Given the description of an element on the screen output the (x, y) to click on. 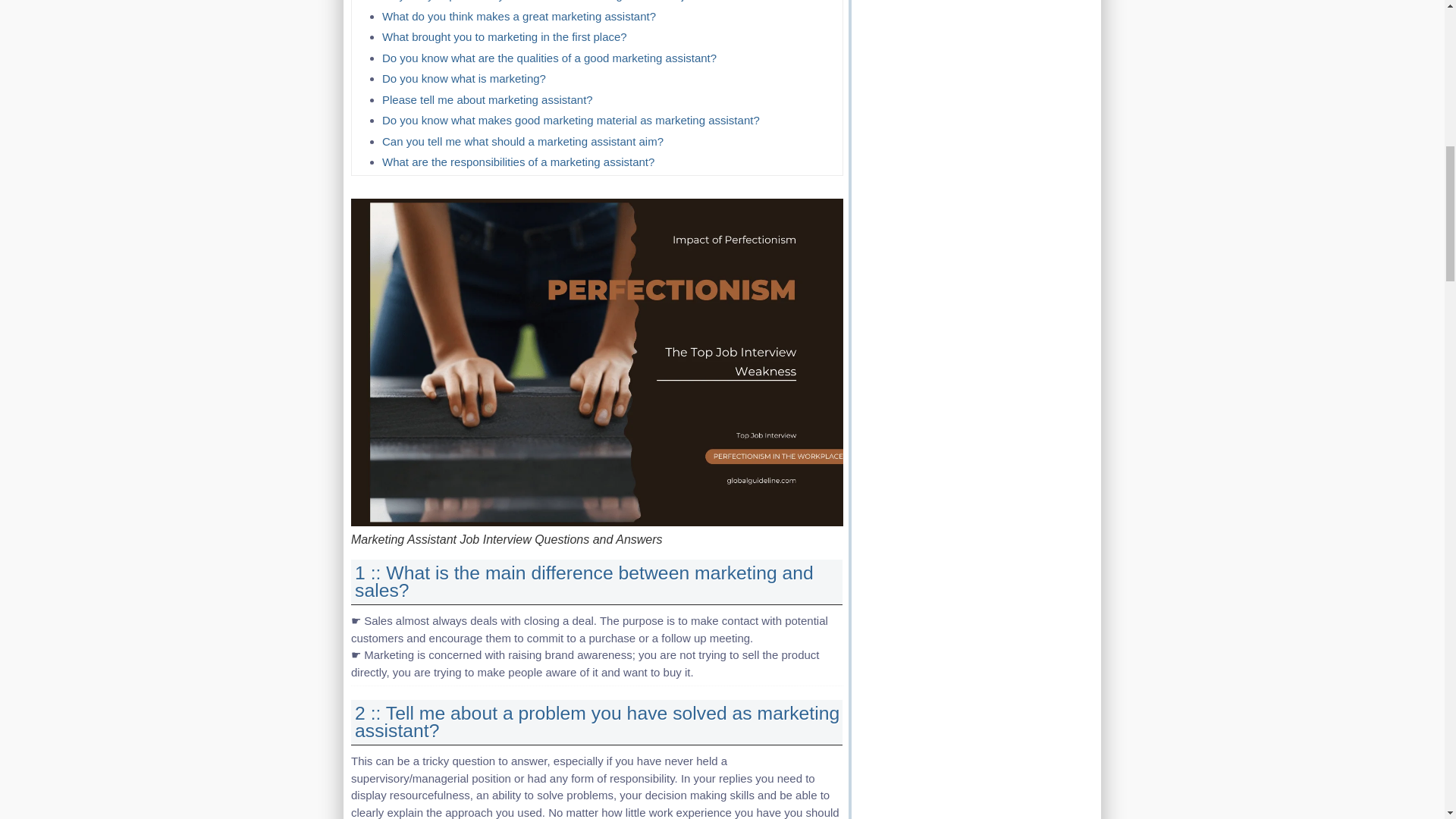
Please tell me about marketing assistant? (486, 98)
View all Answers (584, 581)
What brought you to marketing in the first place? (504, 36)
What do you think makes a great marketing assistant? (518, 15)
Do you know what is marketing? (463, 78)
View all Answers (597, 721)
Can you tell me what should a marketing assistant aim? (522, 141)
